Given the description of an element on the screen output the (x, y) to click on. 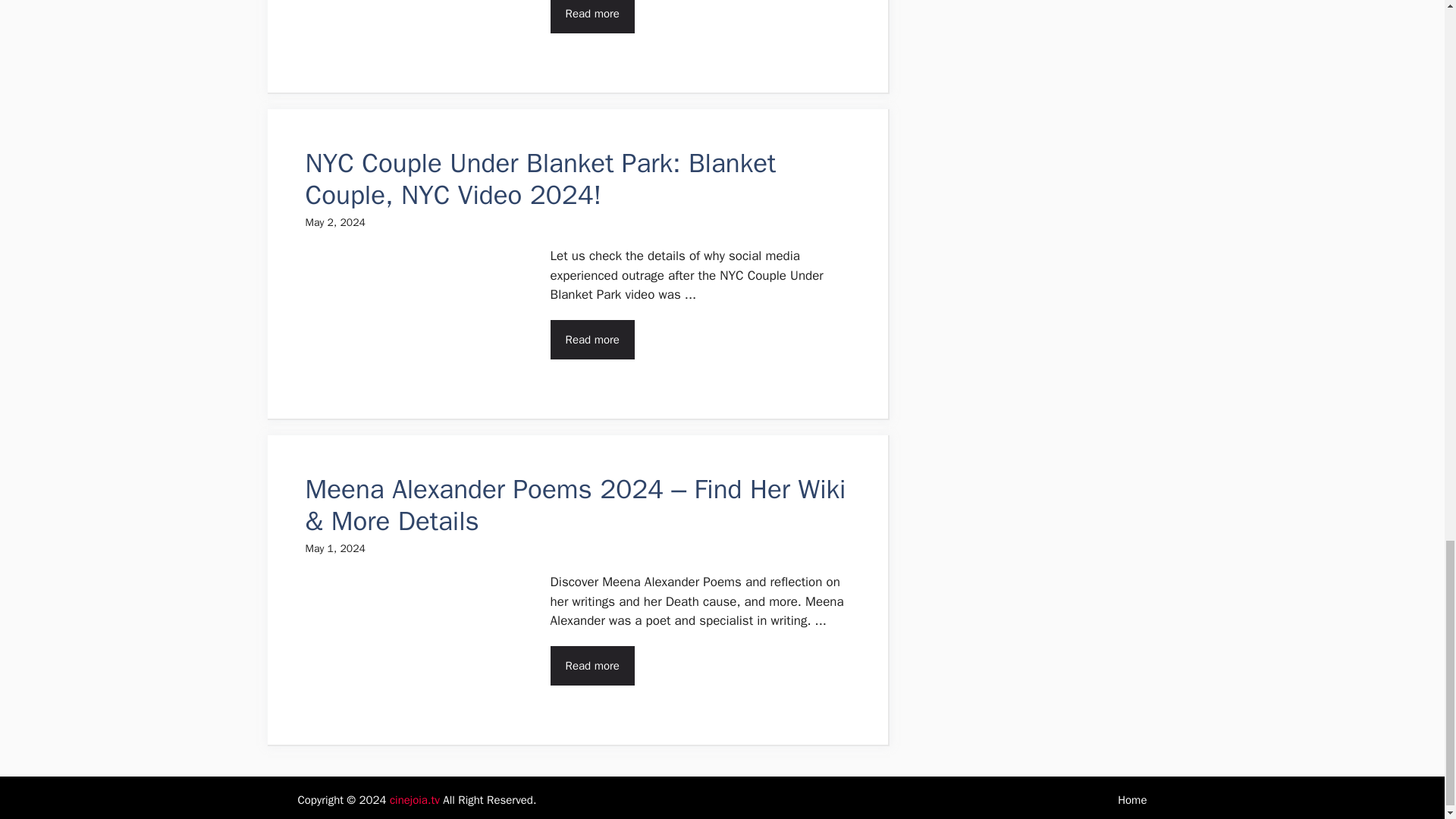
Read more (592, 666)
Read more (592, 17)
Read more (592, 340)
cinejoia.tv (414, 799)
Home (1132, 799)
